Given the description of an element on the screen output the (x, y) to click on. 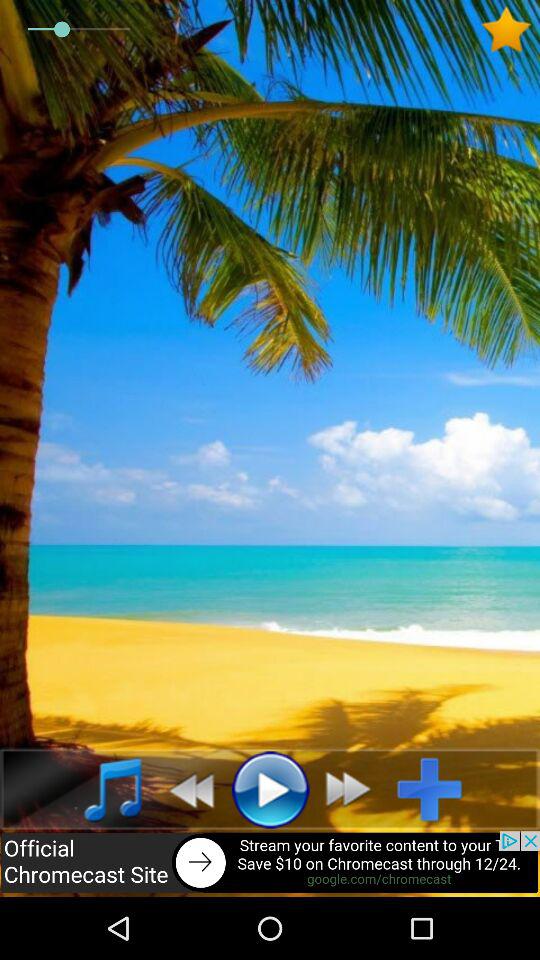
open advertisements (270, 864)
